Given the description of an element on the screen output the (x, y) to click on. 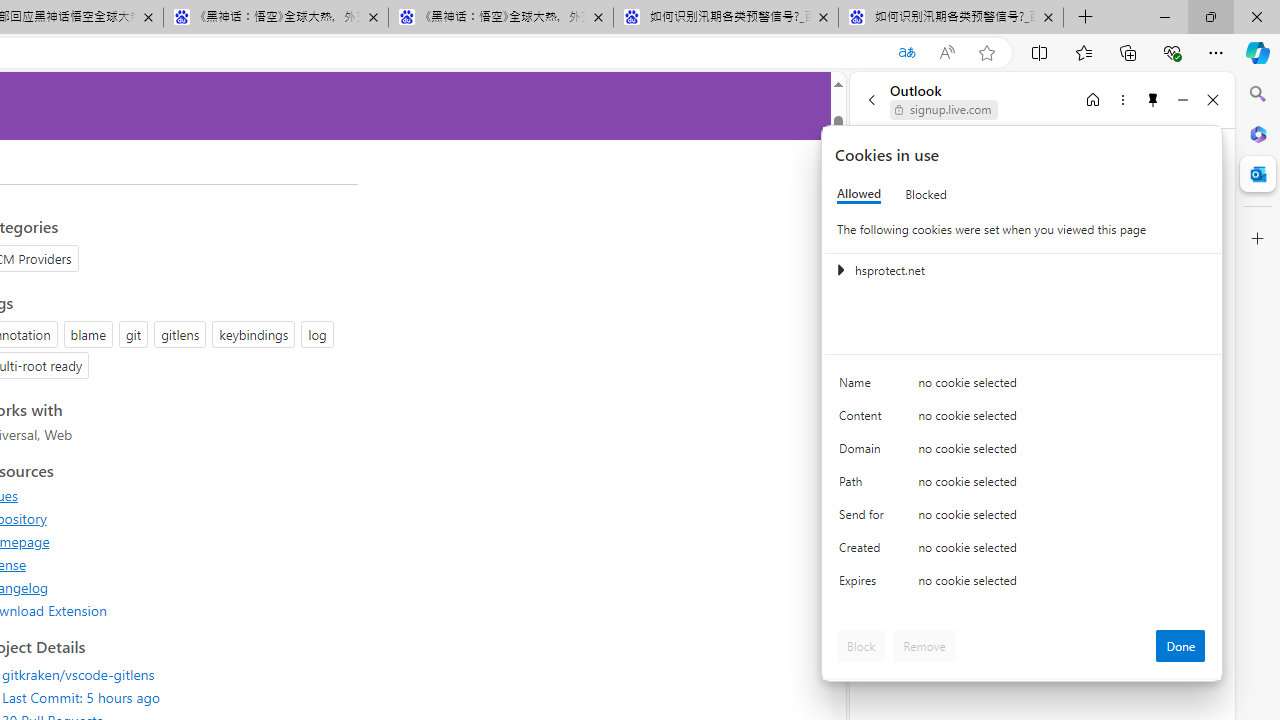
Content (864, 420)
Send for (864, 518)
no cookie selected (1062, 585)
Class: c0153 c0157 (1023, 584)
Block (861, 645)
Done (1179, 645)
Created (864, 552)
Domain (864, 452)
Blocked (925, 193)
Name (864, 387)
Expires (864, 585)
Path (864, 485)
Remove (924, 645)
Class: c0153 c0157 c0154 (1023, 386)
Allowed (859, 193)
